Given the description of an element on the screen output the (x, y) to click on. 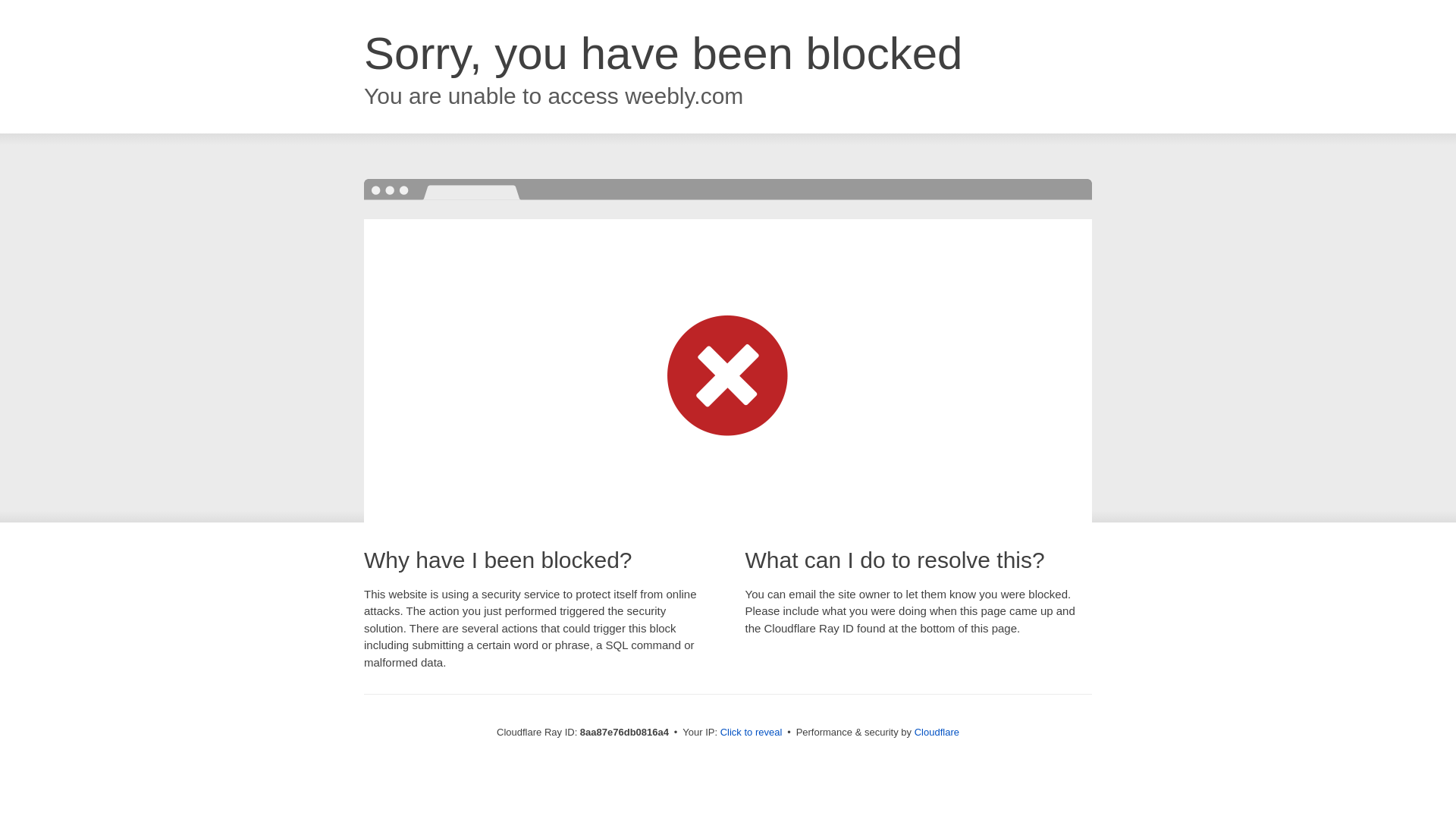
Cloudflare (936, 731)
Click to reveal (751, 732)
